Given the description of an element on the screen output the (x, y) to click on. 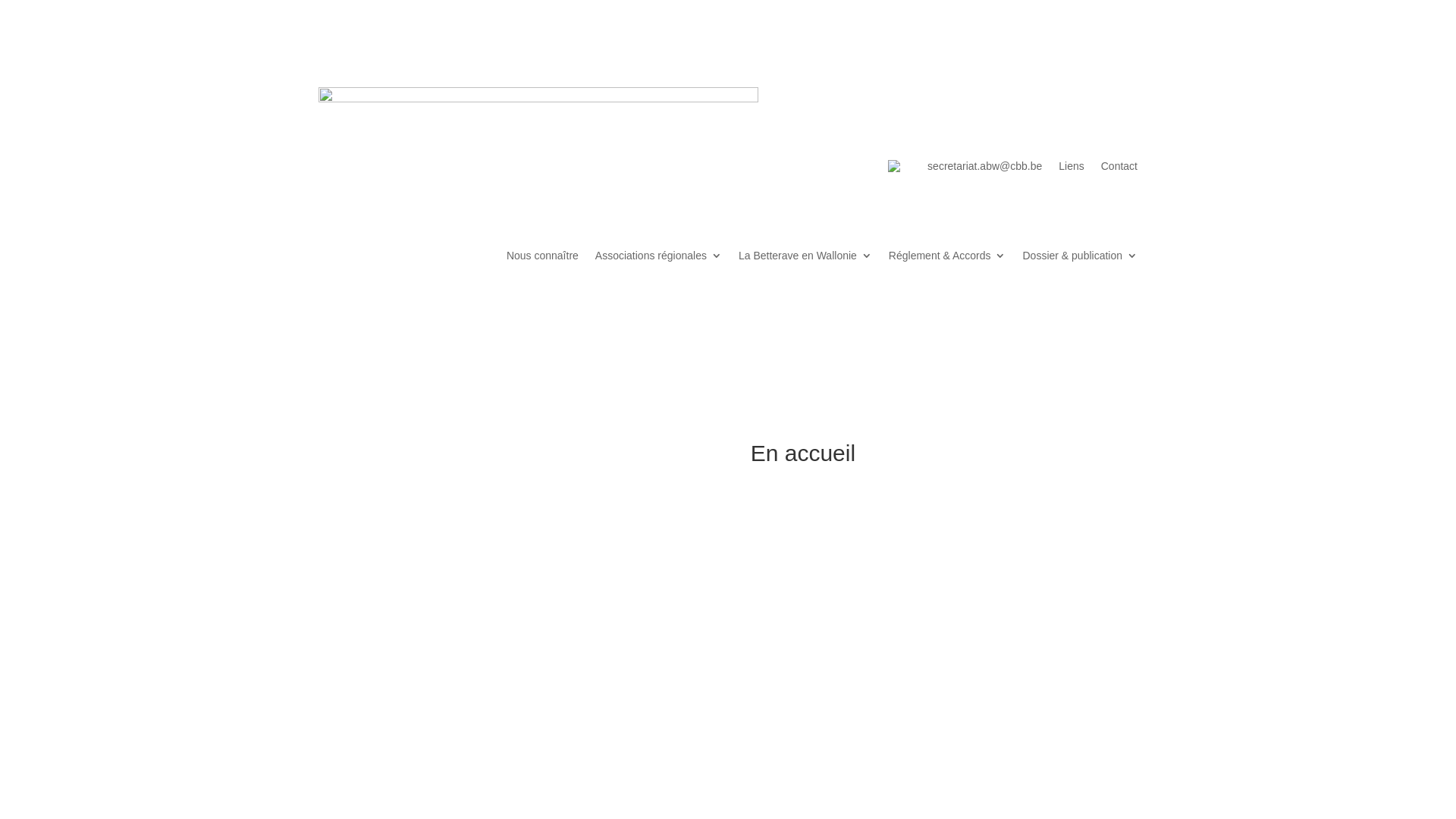
La Betterave en Wallonie Element type: text (805, 258)
Contact Element type: text (1119, 165)
secretariat.abw@cbb.be Element type: text (984, 165)
Liens Element type: text (1070, 165)
Dossier & publication Element type: text (1079, 258)
